Given the description of an element on the screen output the (x, y) to click on. 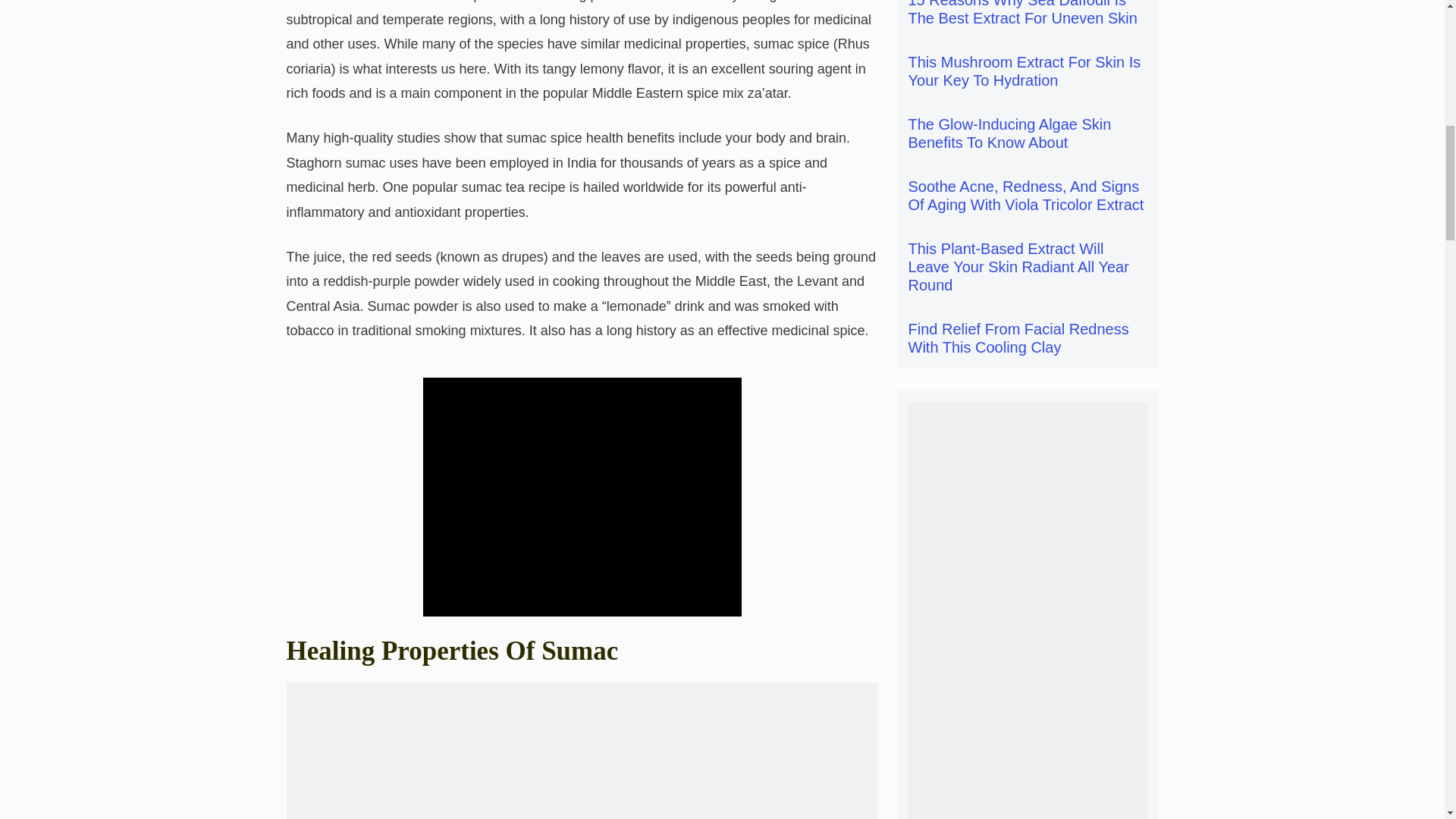
This Mushroom Extract For Skin Is Your Key To Hydration (1024, 71)
Find Relief From Facial Redness With This Cooling Clay (1018, 338)
The Glow-Inducing Algae Skin Benefits To Know About (1010, 133)
